Given the description of an element on the screen output the (x, y) to click on. 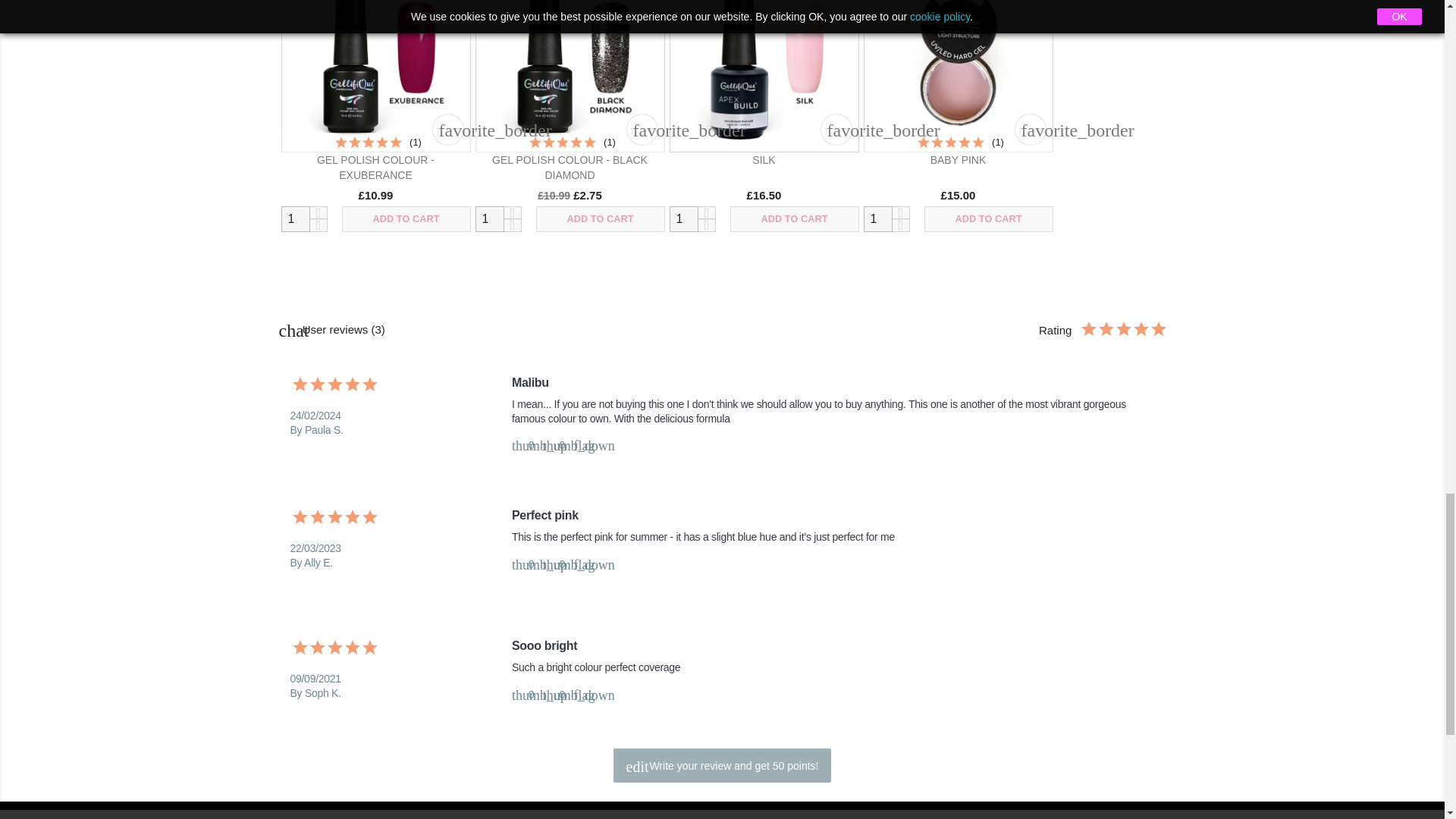
1 (682, 218)
Report abuse (580, 444)
1 (488, 218)
1 (877, 218)
1 (294, 218)
Report abuse (580, 563)
Report abuse (580, 694)
